Given the description of an element on the screen output the (x, y) to click on. 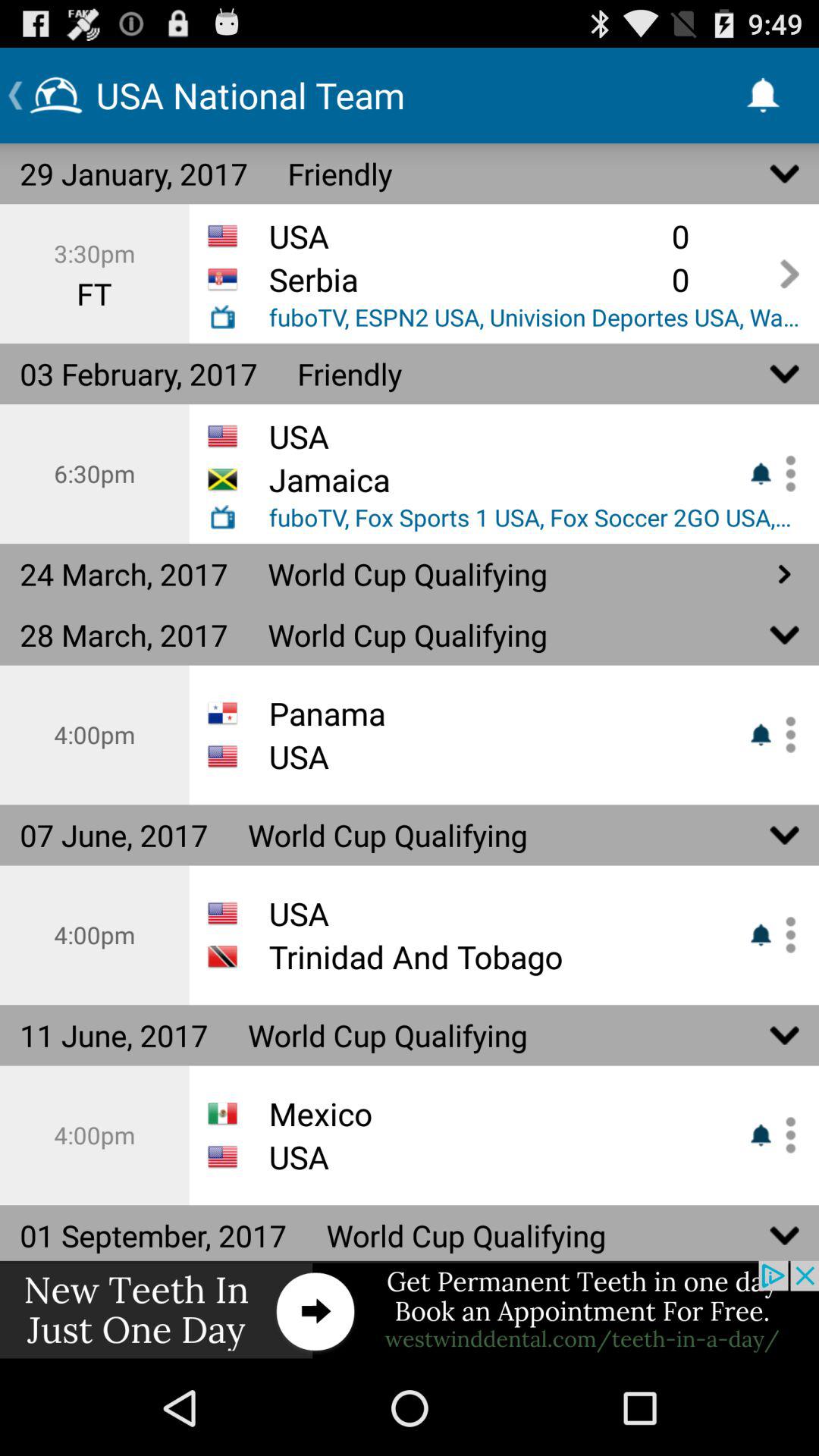
menu about the match (785, 473)
